Given the description of an element on the screen output the (x, y) to click on. 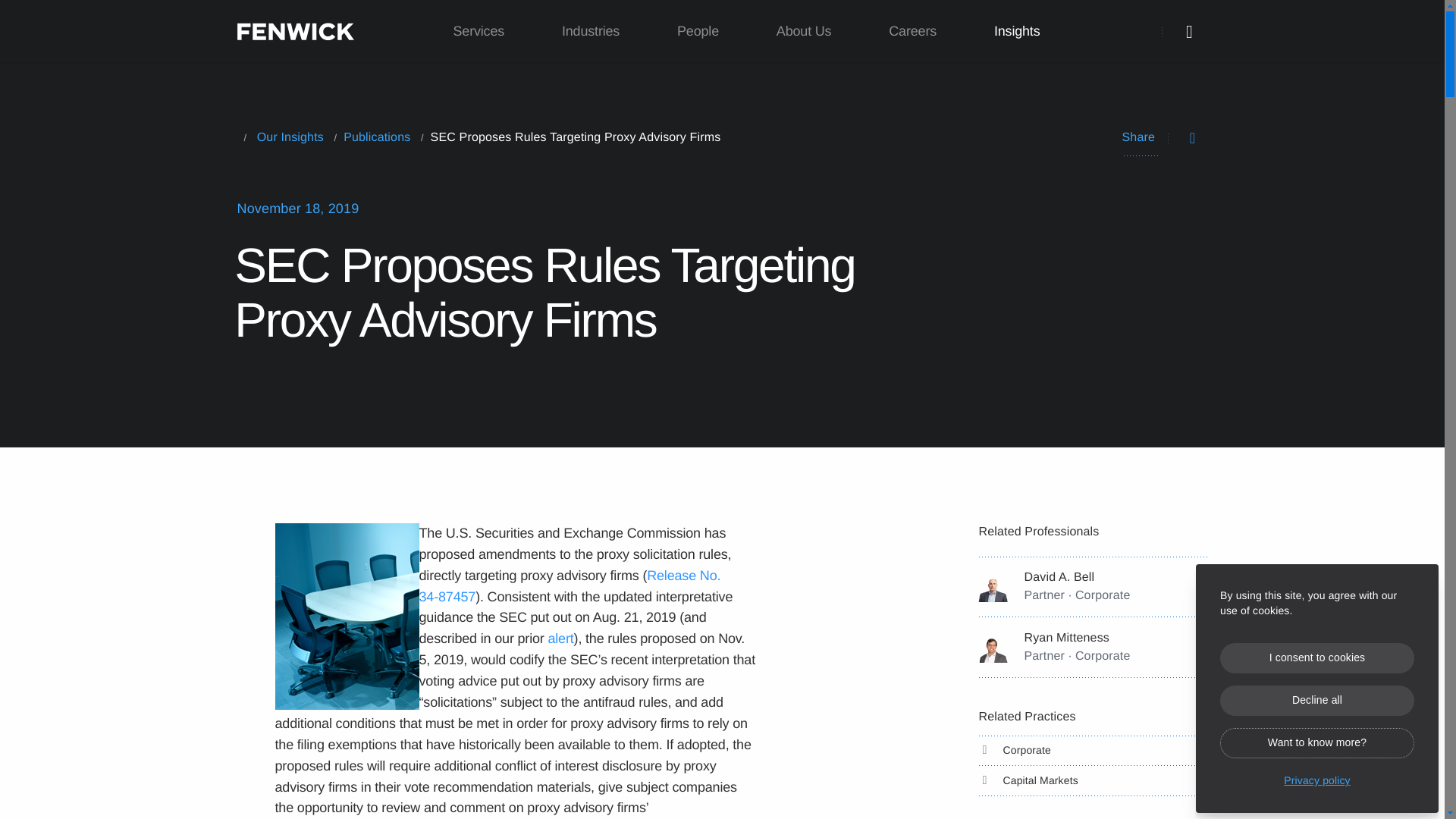
Services (478, 31)
search icon (1188, 31)
privacy policy (1316, 776)
decline all (1316, 700)
i consent to cookies (1316, 657)
want to know more? (1316, 743)
